Given the description of an element on the screen output the (x, y) to click on. 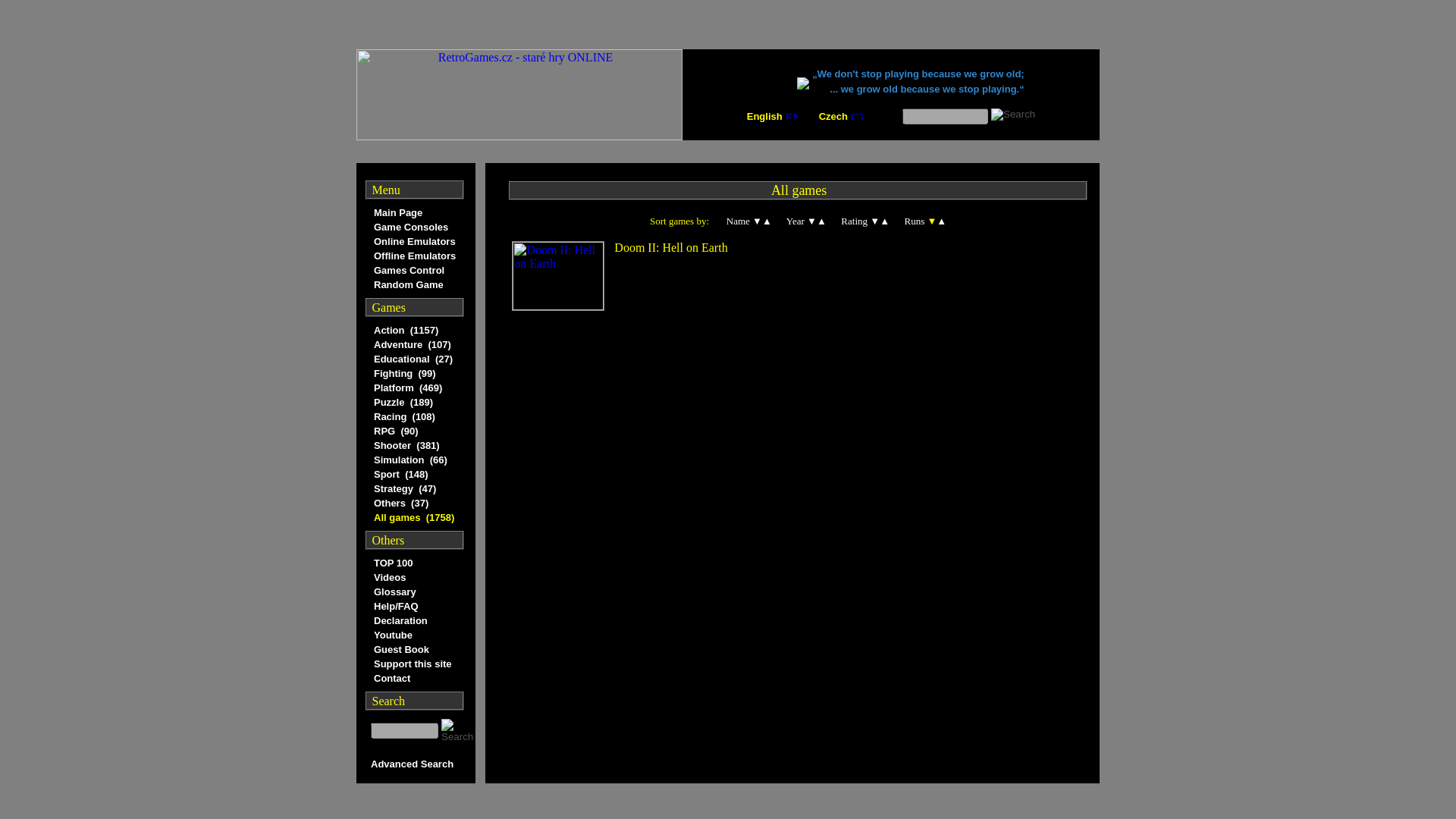
Offline Emulators (414, 255)
Czech (832, 115)
Games Control (414, 269)
Main Page (414, 212)
Game Consoles (414, 227)
English (764, 115)
Random Game (414, 284)
Online Emulators (414, 241)
